Given the description of an element on the screen output the (x, y) to click on. 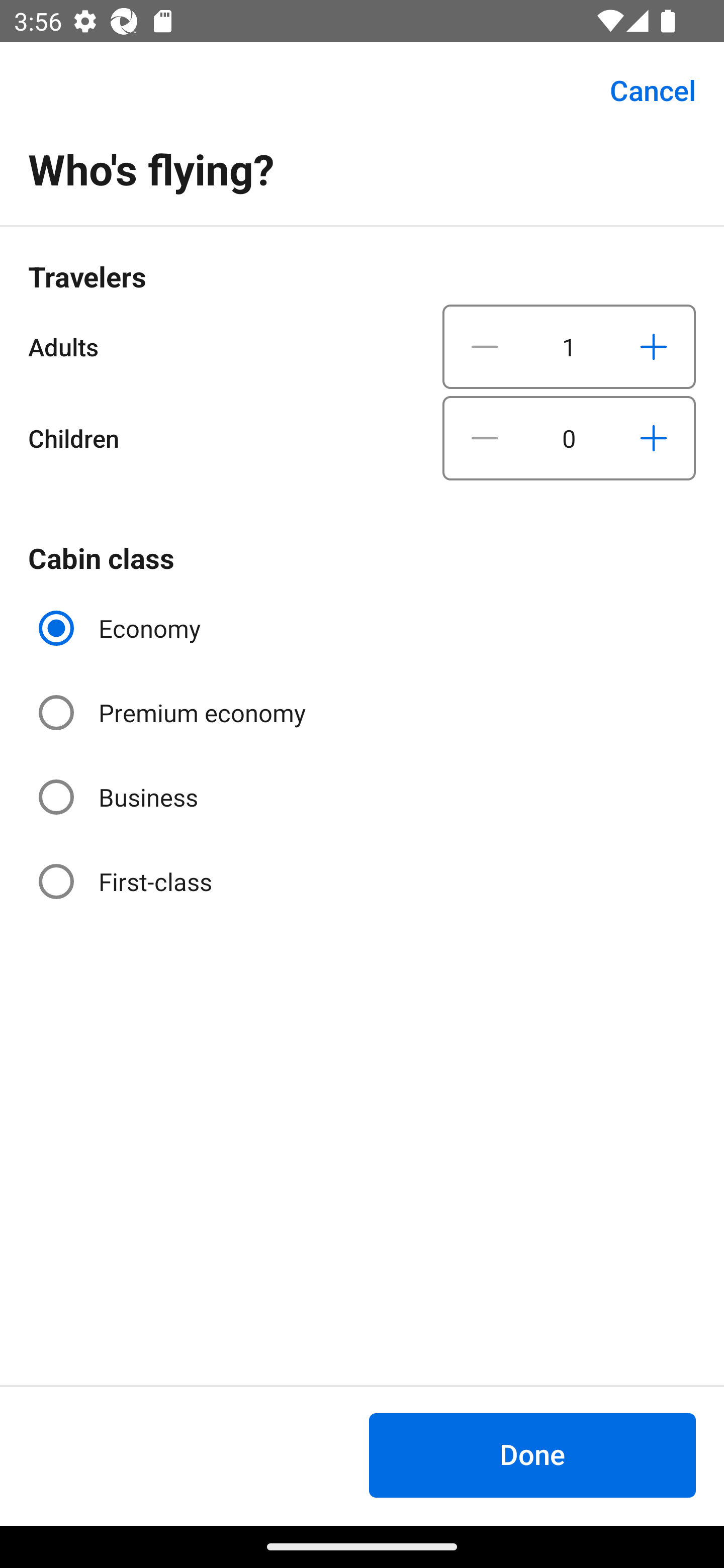
Cancel (641, 90)
Decrease (484, 346)
Increase (653, 346)
Decrease (484, 437)
Increase (653, 437)
Economy (121, 628)
Premium economy (174, 712)
Business (120, 796)
First-class (126, 880)
Done (532, 1454)
